Given the description of an element on the screen output the (x, y) to click on. 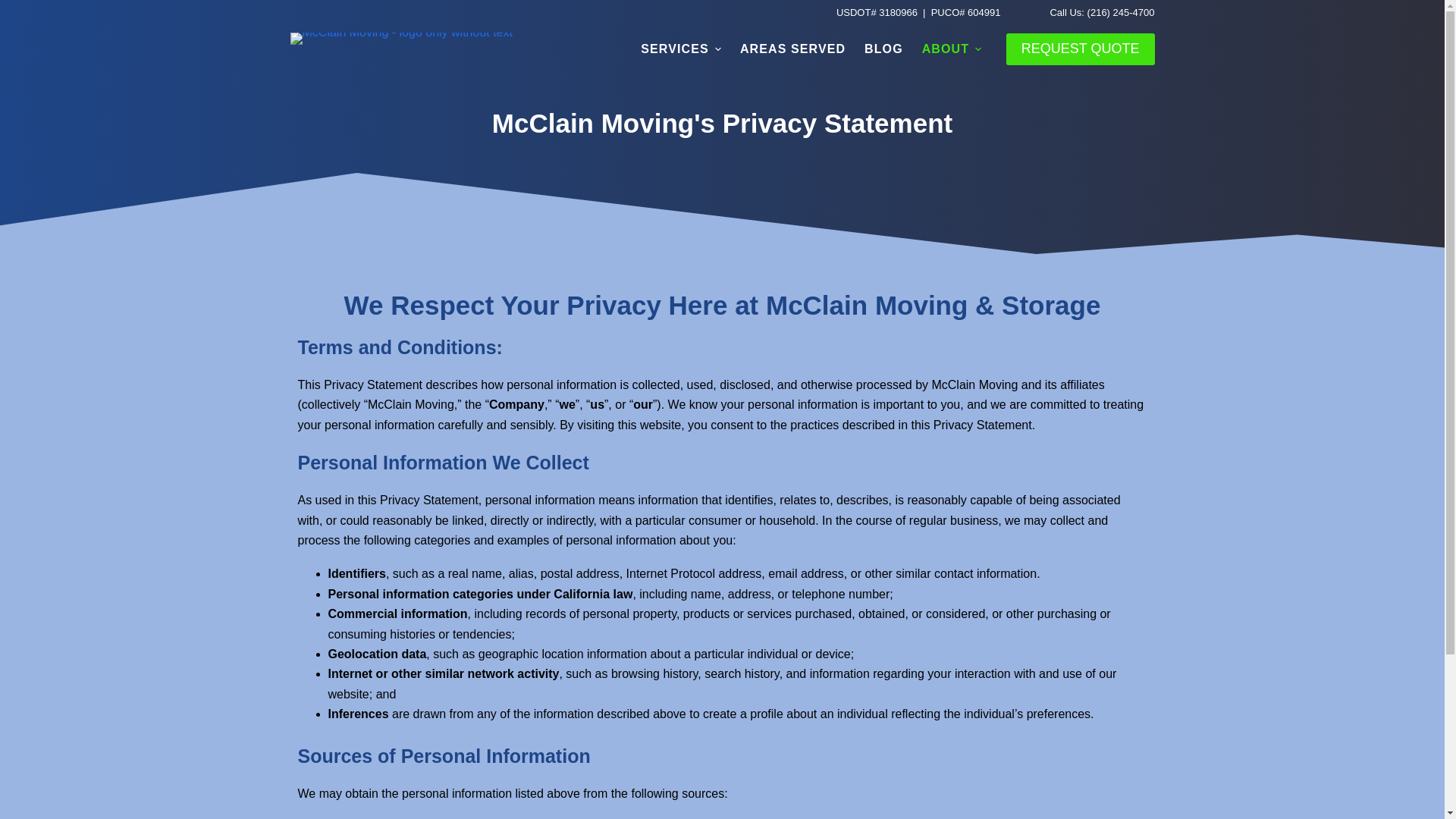
BLOG (884, 49)
REQUEST QUOTE (1080, 49)
SERVICES (680, 49)
Skip to content (15, 7)
AREAS SERVED (792, 49)
ABOUT (951, 49)
